Given the description of an element on the screen output the (x, y) to click on. 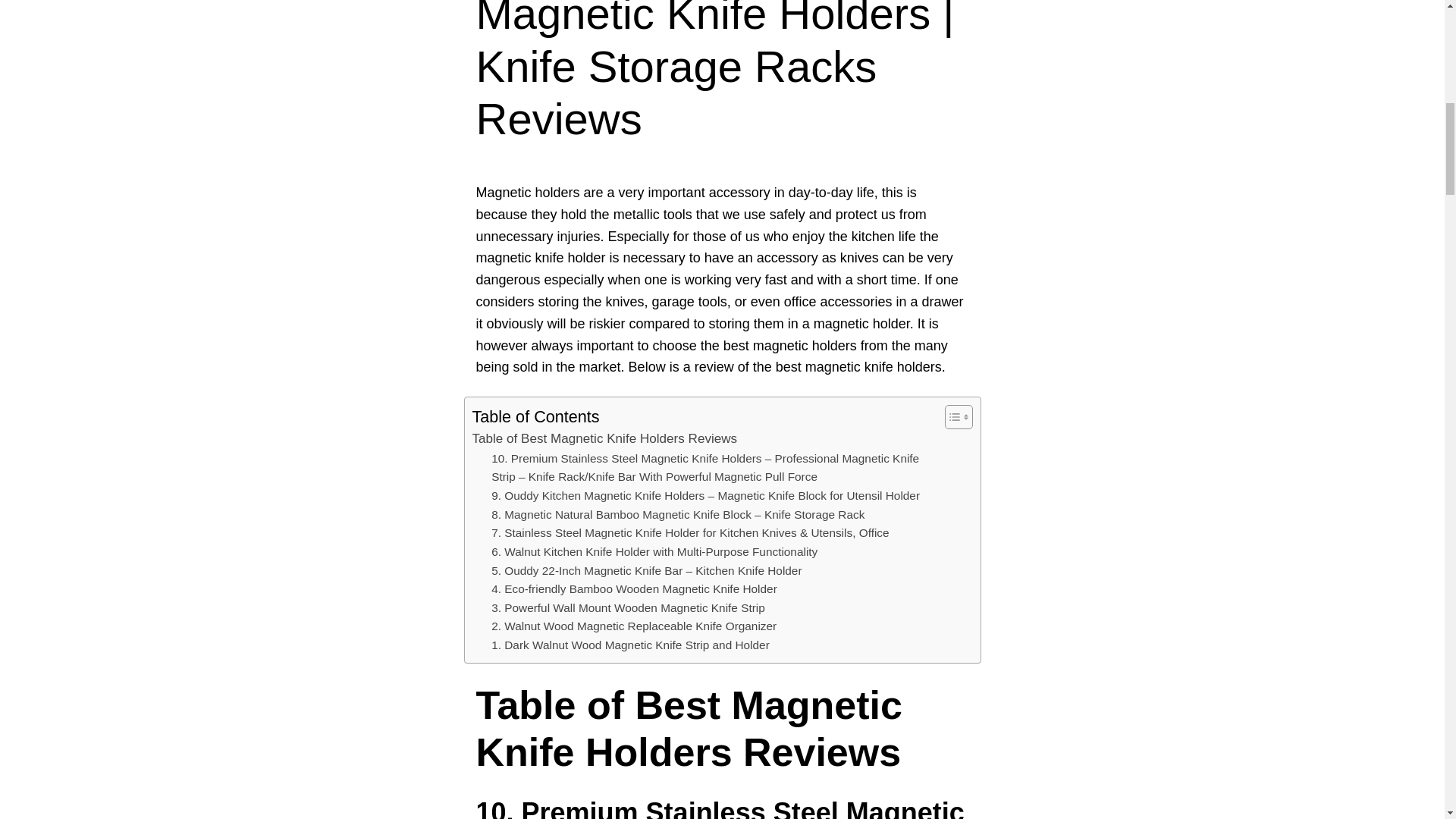
4. Eco-friendly Bamboo Wooden Magnetic Knife Holder (634, 588)
3. Powerful Wall Mount Wooden Magnetic Knife Strip (628, 608)
2. Walnut Wood Magnetic Replaceable Knife Organizer (634, 626)
4. Eco-friendly Bamboo Wooden Magnetic Knife Holder (634, 588)
Table of Best Magnetic Knife Holders Reviews (603, 438)
Table of Best Magnetic Knife Holders Reviews (603, 438)
1. Dark Walnut Wood Magnetic Knife Strip and Holder (631, 645)
1. Dark Walnut Wood Magnetic Knife Strip and Holder (631, 645)
